Given the description of an element on the screen output the (x, y) to click on. 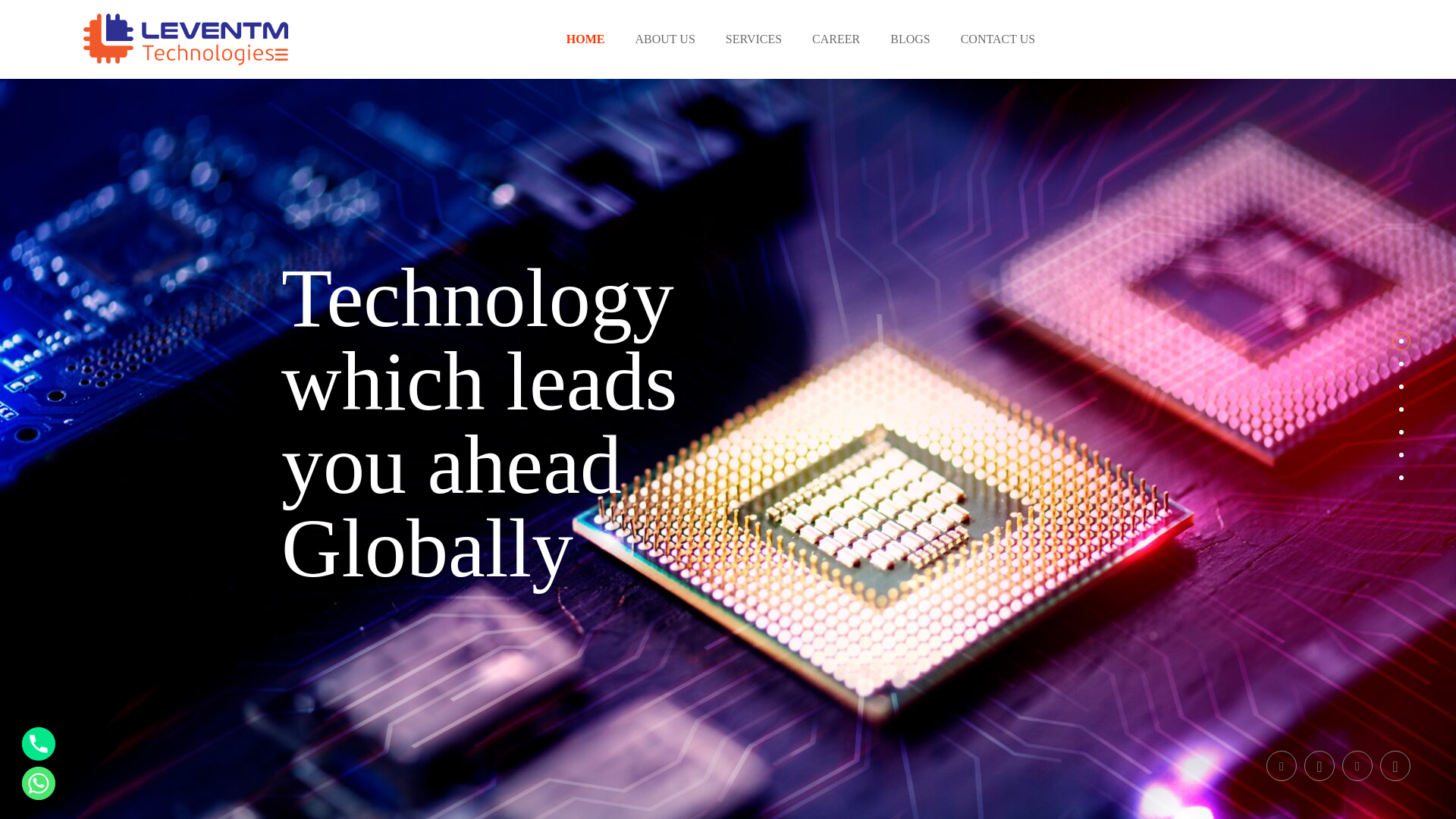
CONTACT US (997, 38)
HOME (585, 38)
BLOGS (909, 38)
ABOUT US (664, 38)
SERVICES (753, 38)
CAREER (836, 38)
